Given the description of an element on the screen output the (x, y) to click on. 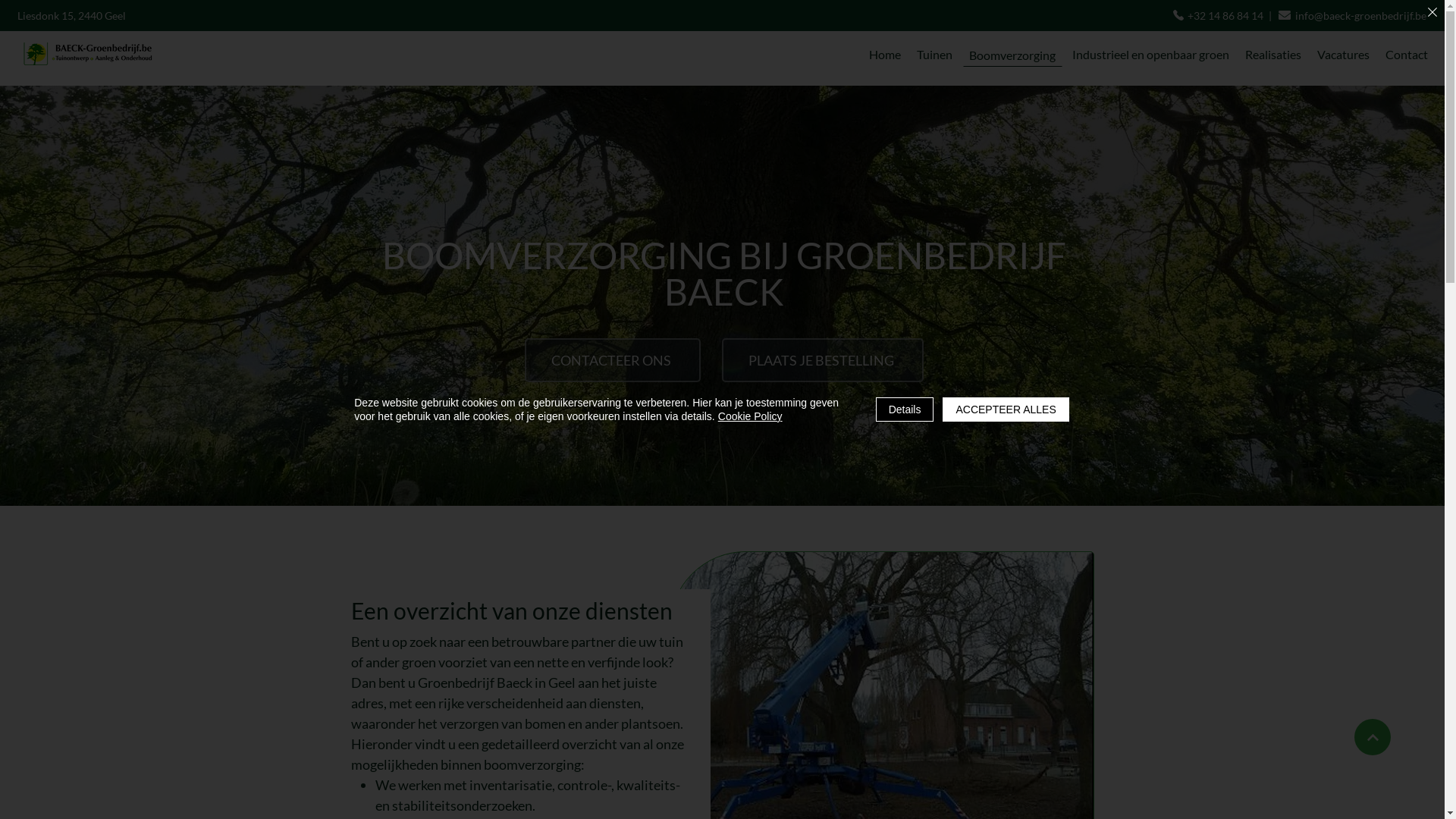
Details Element type: text (904, 409)
Realisaties Element type: text (1272, 54)
Cookie Policy Element type: text (750, 416)
ACCEPTEER ALLES Element type: text (1005, 409)
Home Element type: text (884, 54)
Vacatures Element type: text (1342, 54)
PLAATS JE BESTELLING Element type: text (822, 360)
CONTACTEER ONS Element type: text (612, 360)
+32 14 86 84 14 Element type: text (1225, 15)
Tuinen Element type: text (934, 54)
Contact Element type: text (1406, 54)
Industrieel en openbaar groen Element type: text (1150, 54)
| Element type: text (1269, 15)
info@baeck-groenbedrijf.be Element type: text (1360, 15)
Boomverzorging Element type: text (1012, 54)
